Given the description of an element on the screen output the (x, y) to click on. 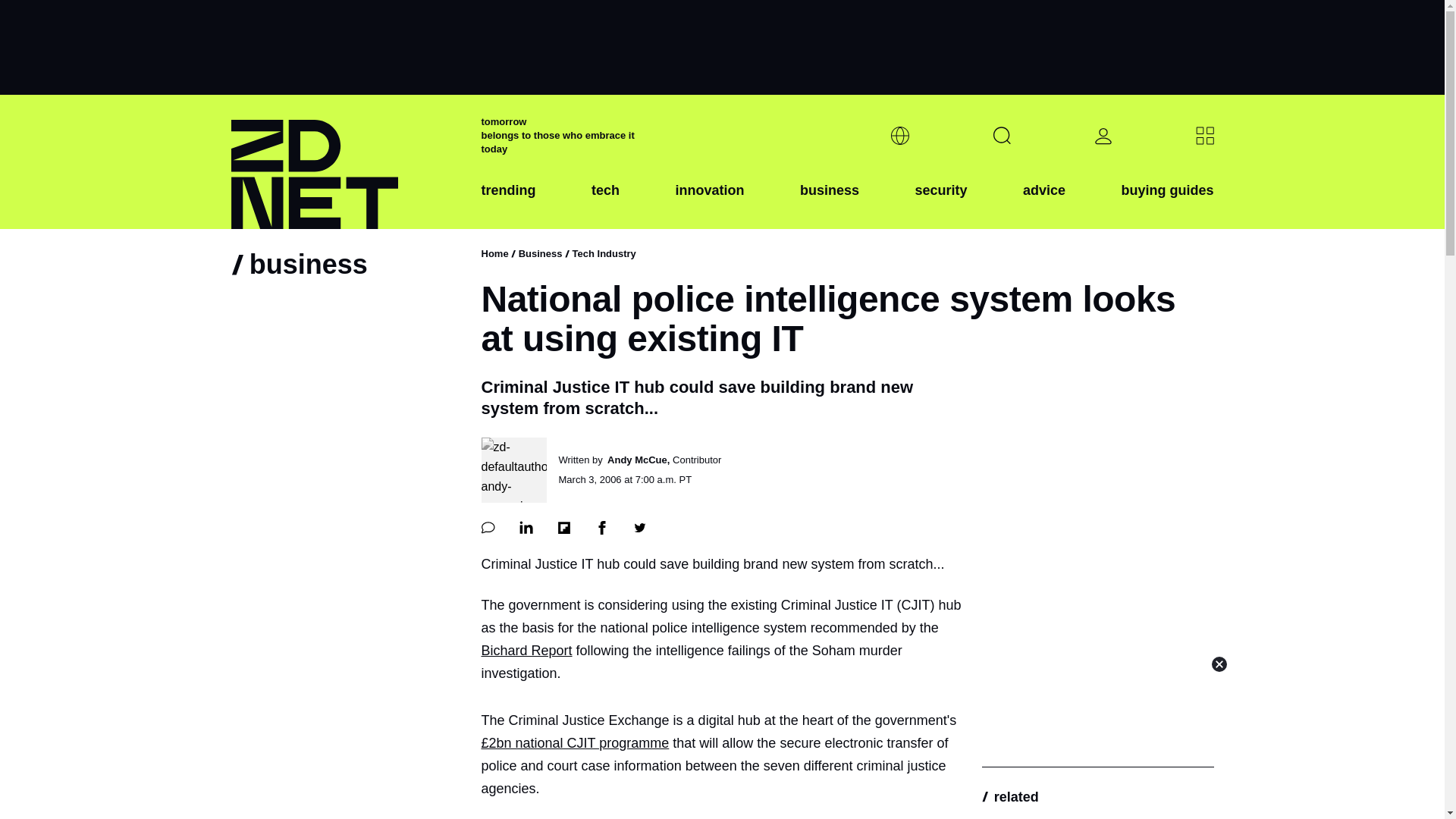
ZDNET (346, 162)
trending (507, 202)
